Given the description of an element on the screen output the (x, y) to click on. 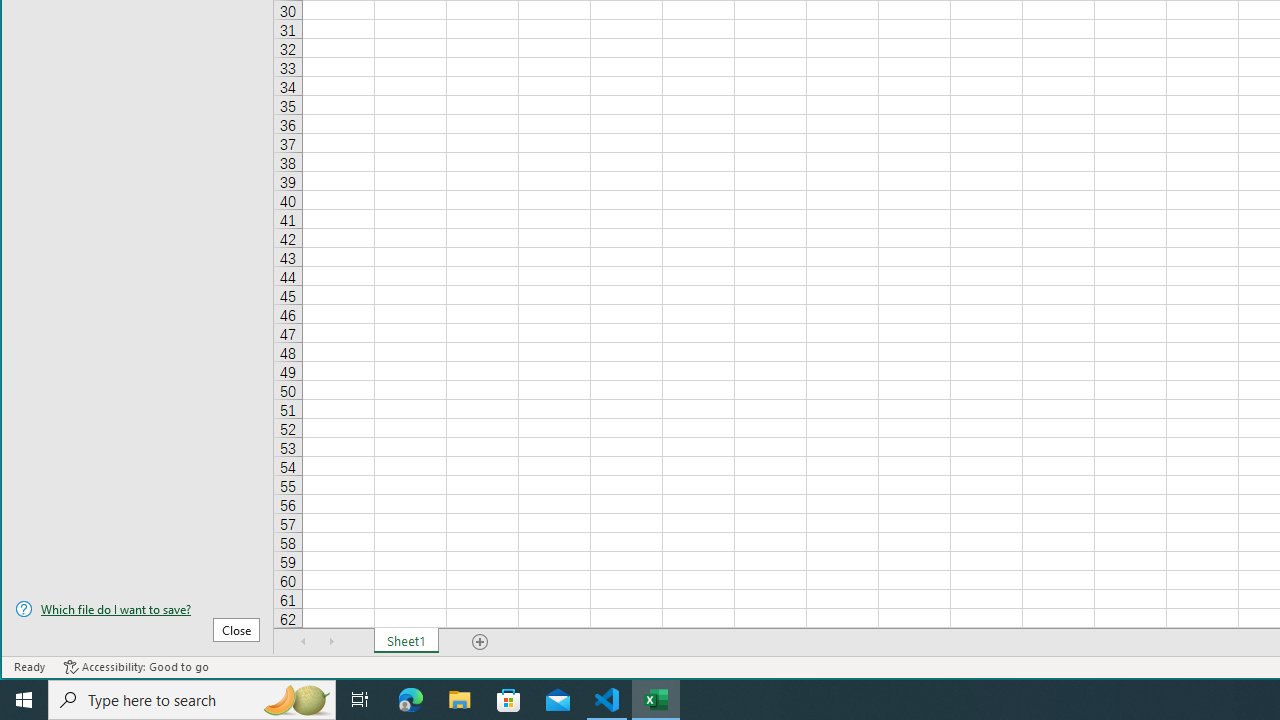
Visual Studio Code - 1 running window (607, 699)
Microsoft Edge (411, 699)
